Given the description of an element on the screen output the (x, y) to click on. 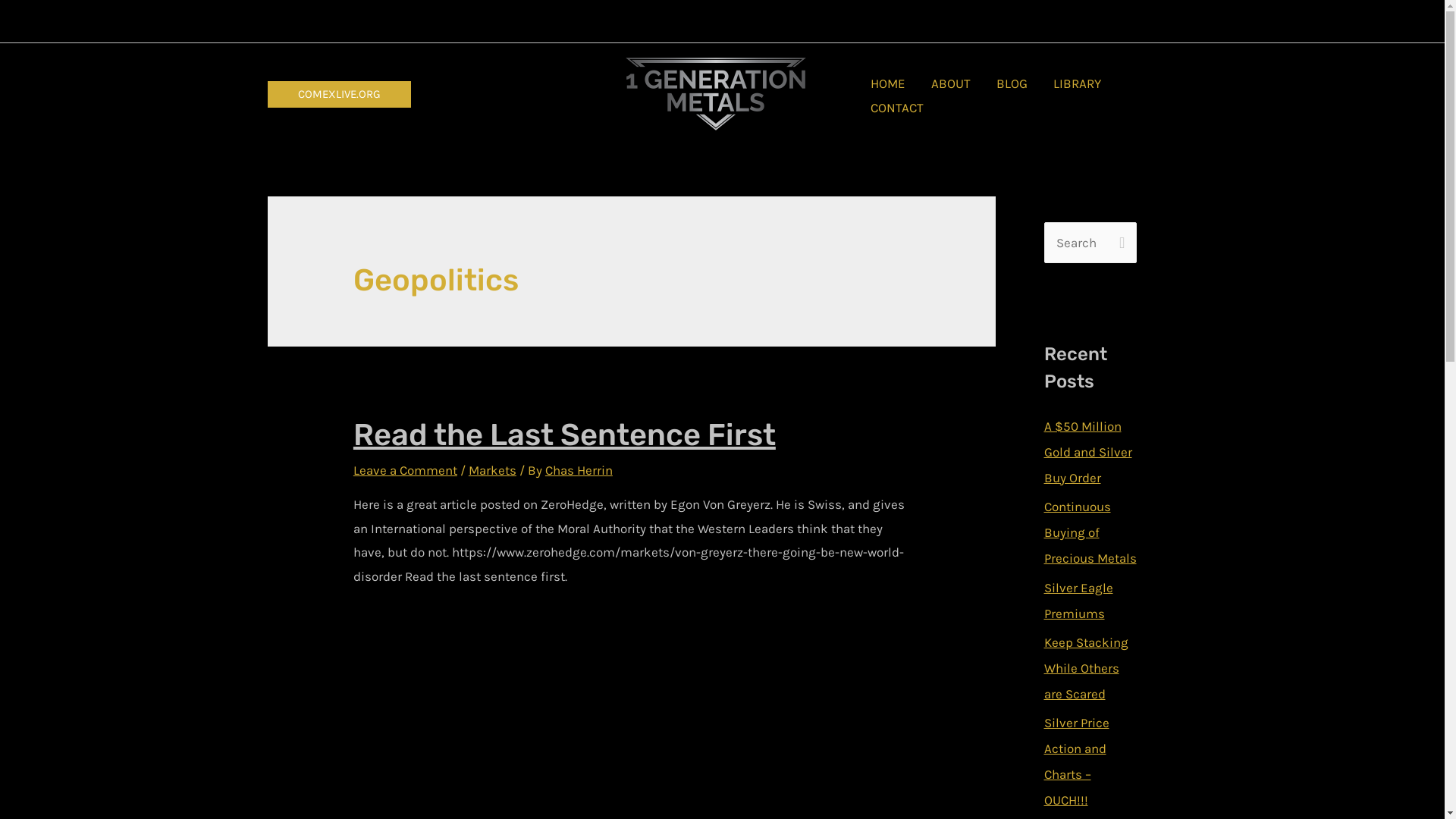
COMEXLIVE.ORG Element type: text (338, 93)
ABOUT Element type: text (950, 84)
BLOG Element type: text (1011, 84)
Chas Herrin Element type: text (578, 469)
A $50 Million Gold and Silver Buy Order Element type: text (1087, 451)
CONTACT Element type: text (896, 108)
Search Element type: text (1119, 238)
HOME Element type: text (887, 84)
Continuous Buying of Precious Metals Element type: text (1089, 531)
LIBRARY Element type: text (1076, 84)
Leave a Comment Element type: text (405, 469)
Read the Last Sentence First Element type: text (564, 434)
Markets Element type: text (492, 469)
Keep Stacking While Others are Scared Element type: text (1085, 667)
Silver Eagle Premiums Element type: text (1077, 599)
